Given the description of an element on the screen output the (x, y) to click on. 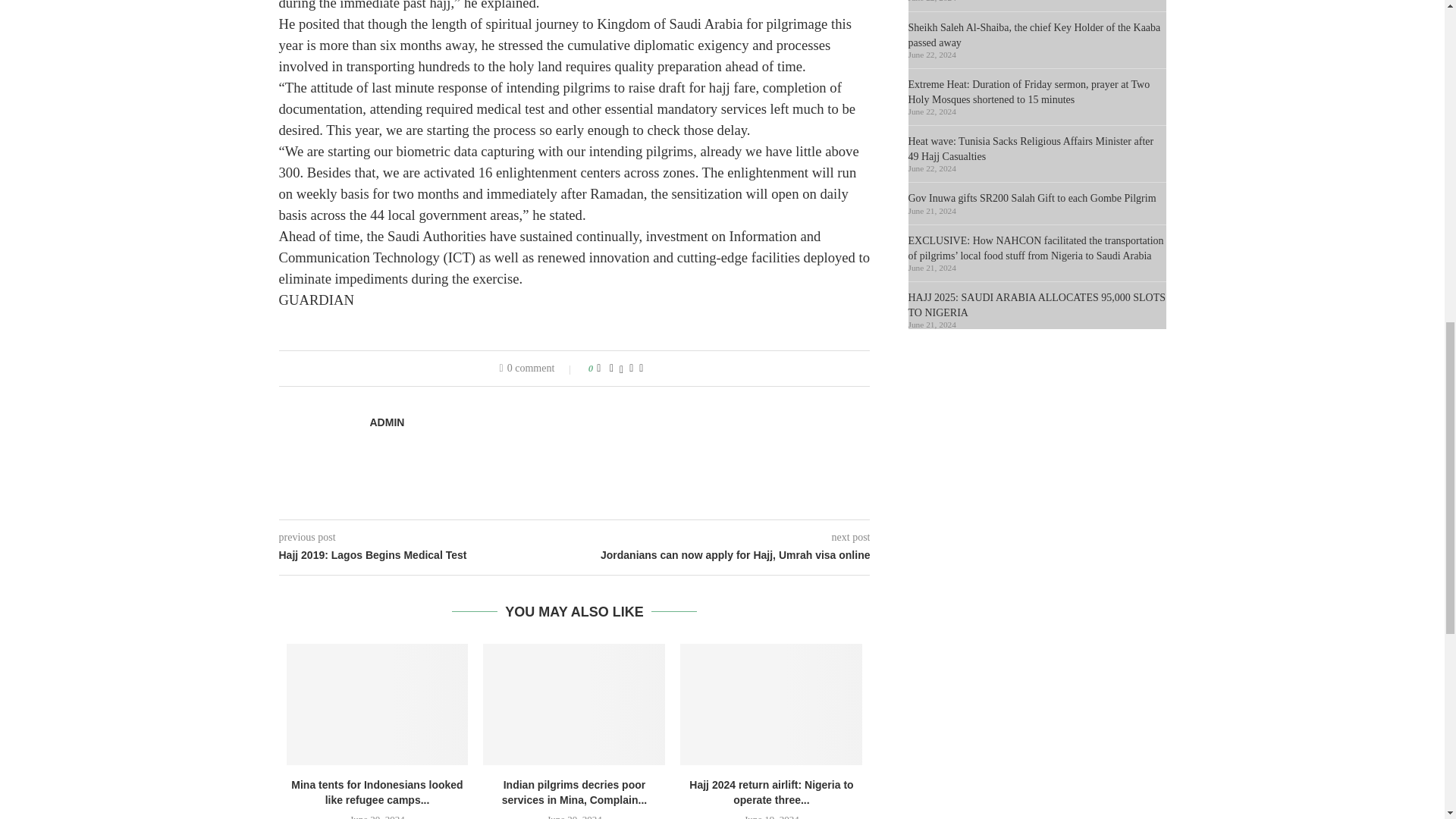
Author admin (386, 422)
